Given the description of an element on the screen output the (x, y) to click on. 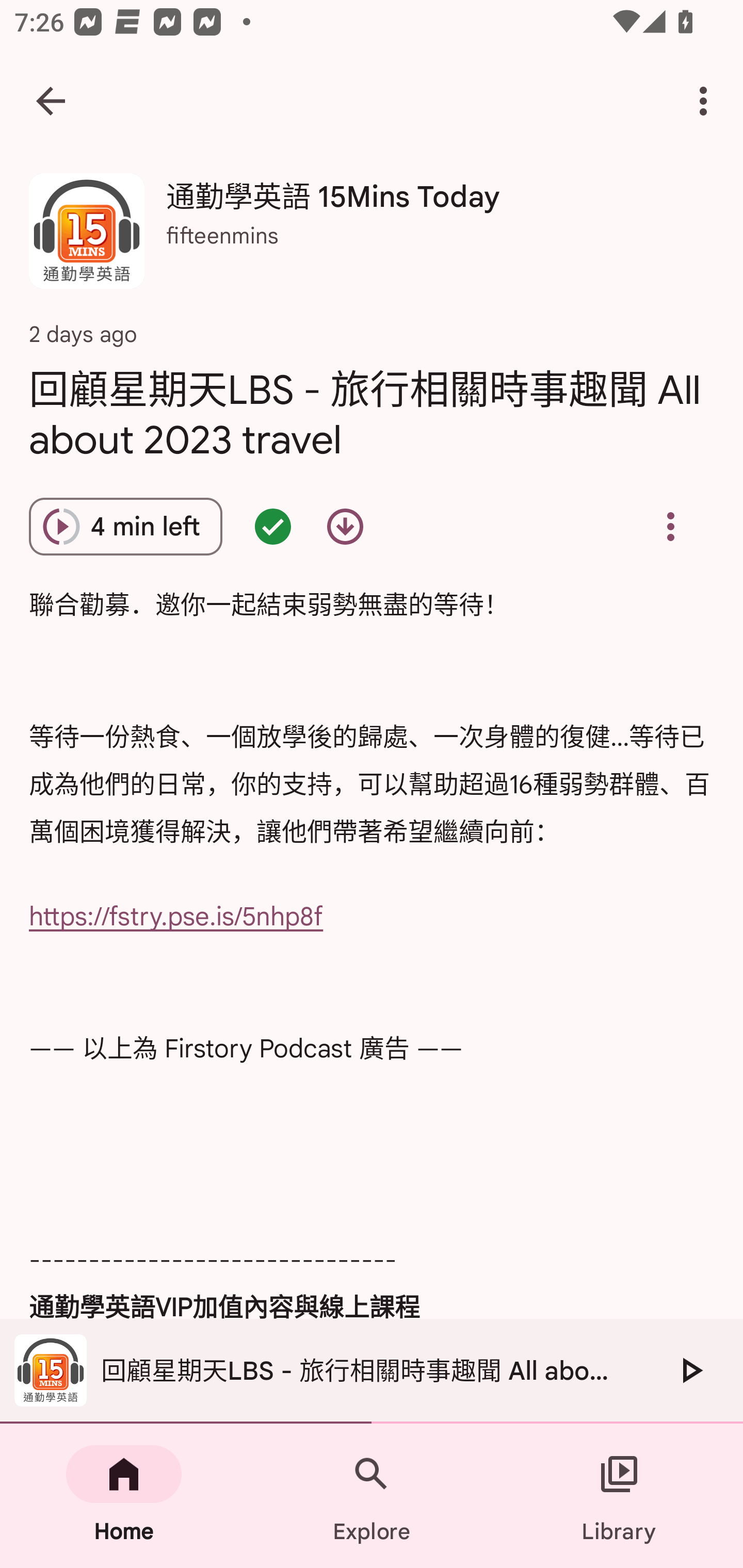
Navigate up (50, 101)
More options (706, 101)
通勤學英語 15Mins Today 通勤學英語 15Mins Today fifteenmins (371, 238)
Episode queued - double tap for options (273, 525)
Download episode (345, 525)
Overflow menu (670, 525)
Play (690, 1370)
Explore (371, 1495)
Library (619, 1495)
